Given the description of an element on the screen output the (x, y) to click on. 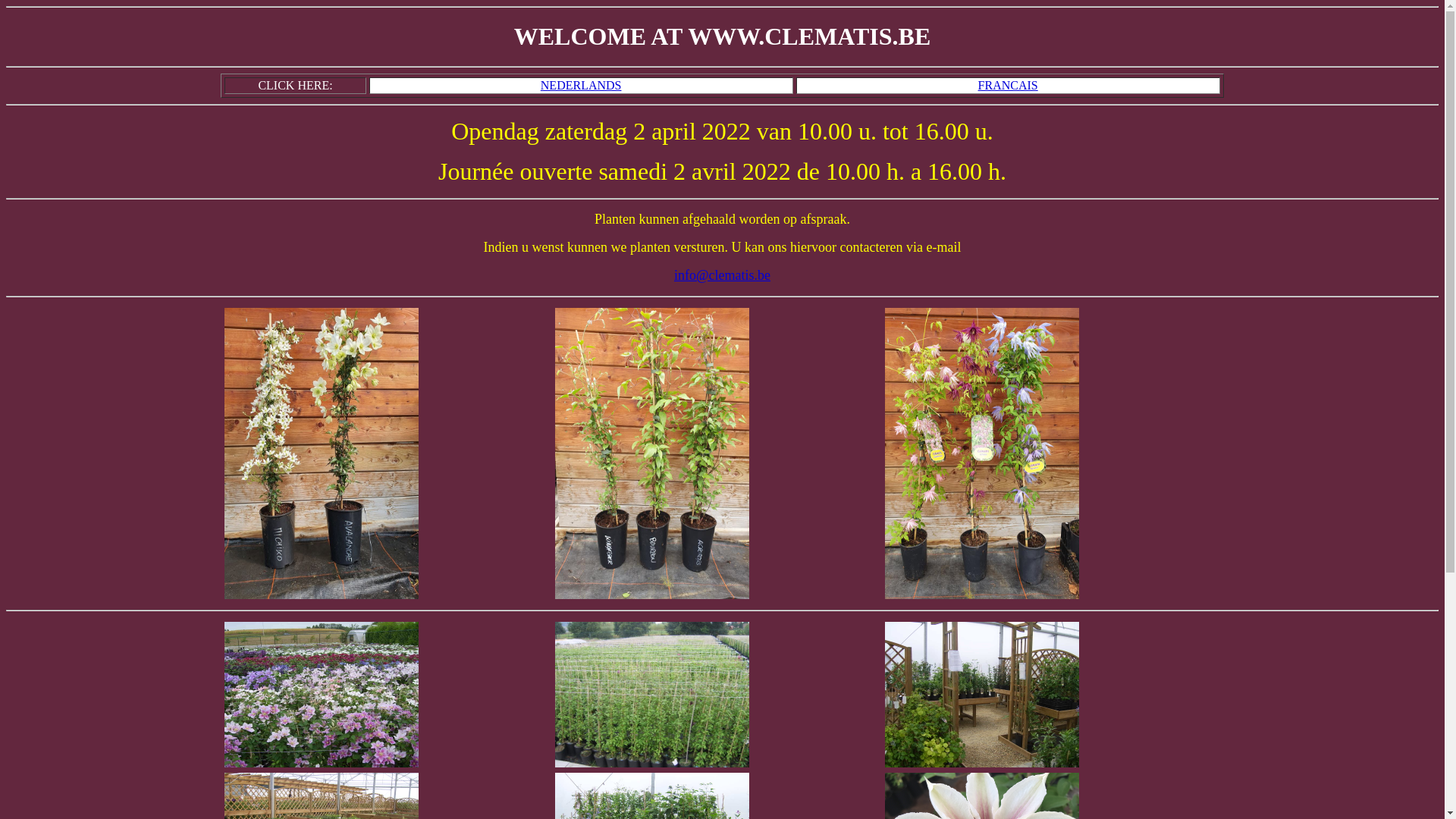
FRANCAIS Element type: text (1008, 84)
info@clematis.be Element type: text (722, 274)
NEDERLANDS Element type: text (580, 84)
